Given the description of an element on the screen output the (x, y) to click on. 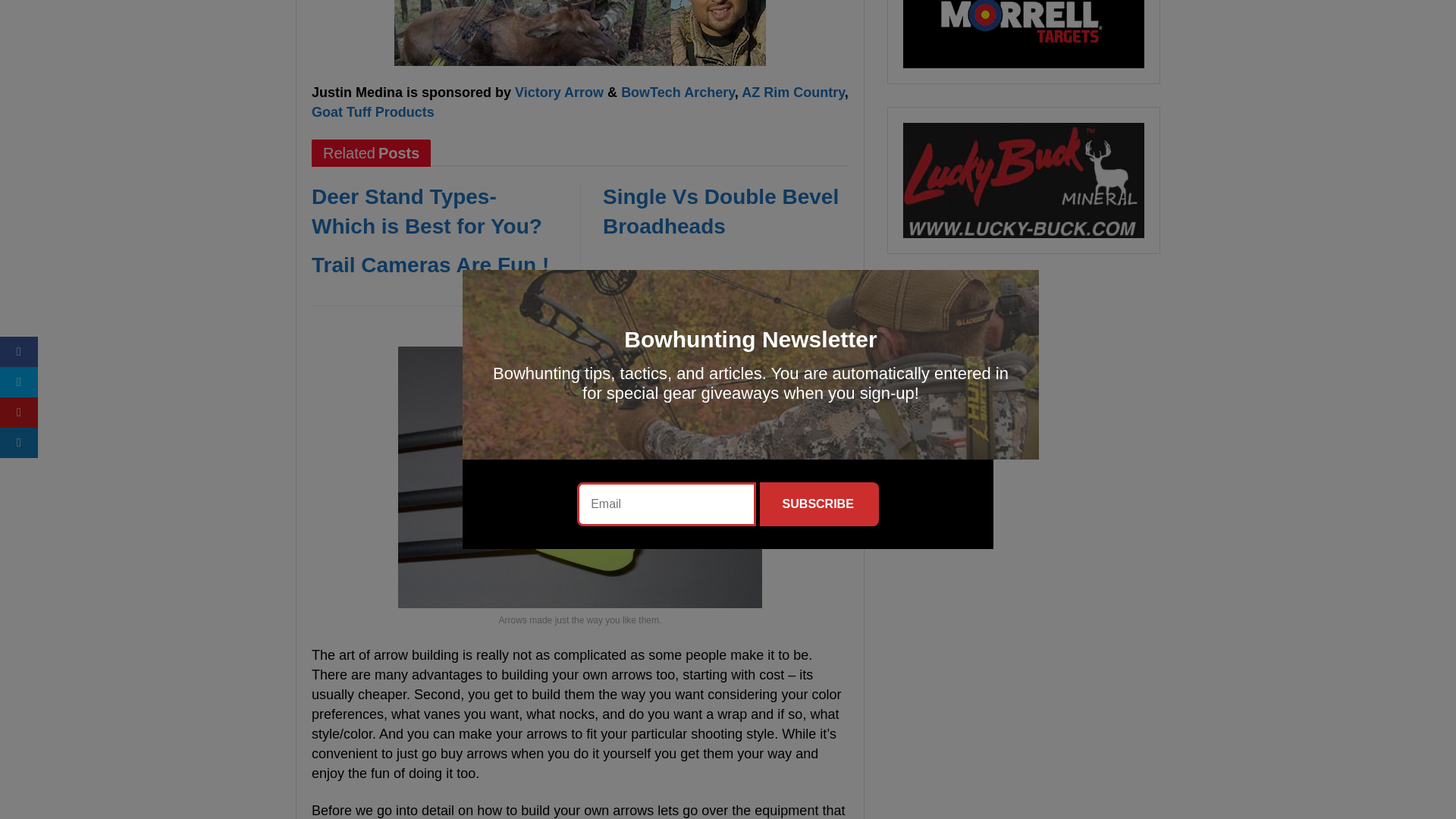
HEADER-1 (579, 33)
